Given the description of an element on the screen output the (x, y) to click on. 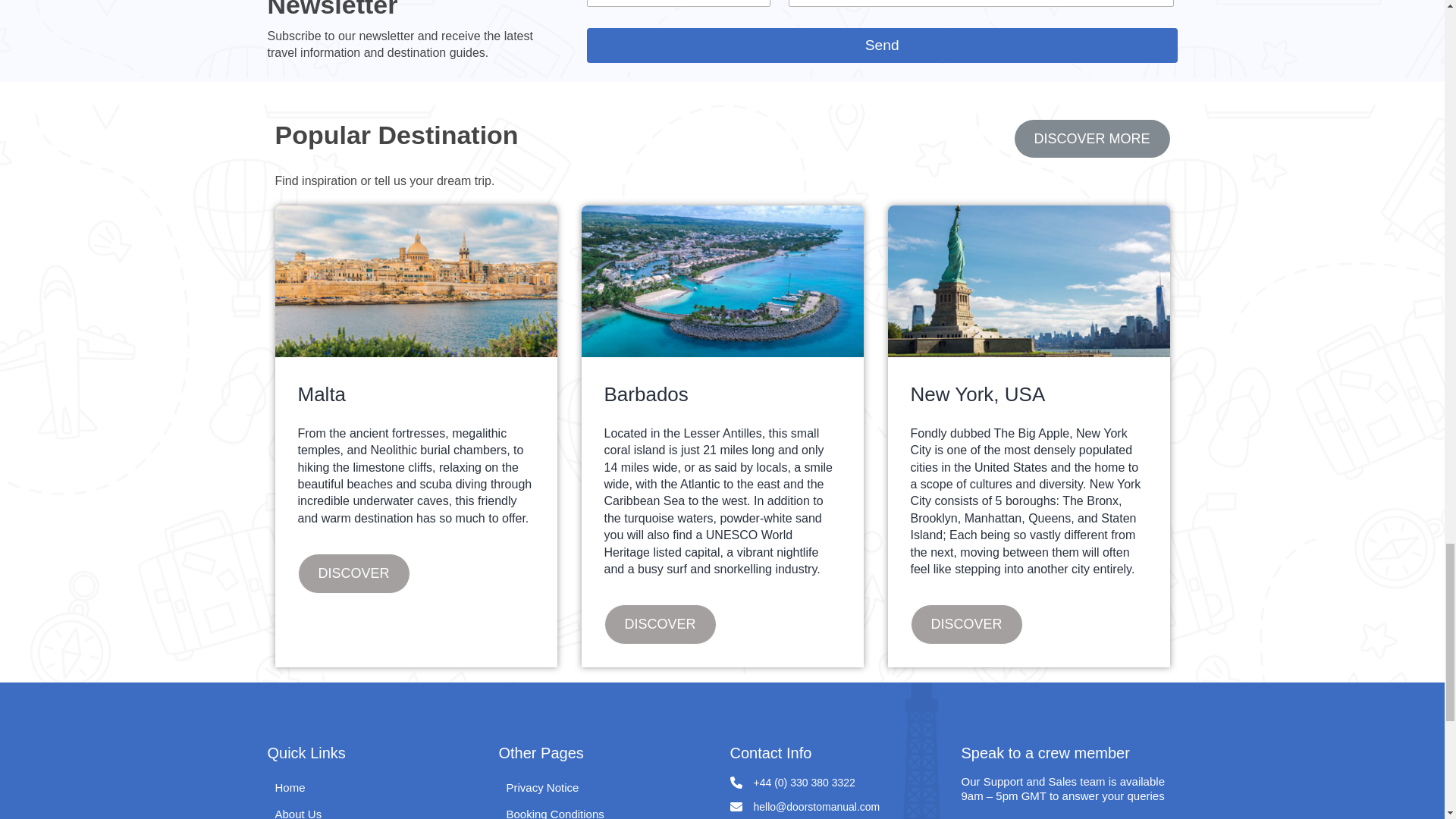
DISCOVER (353, 572)
About Us (298, 811)
Send (881, 44)
Privacy Notice (542, 787)
Send (881, 44)
DISCOVER (660, 623)
Home (289, 787)
DISCOVER MORE (1092, 138)
DISCOVER (966, 623)
